Given the description of an element on the screen output the (x, y) to click on. 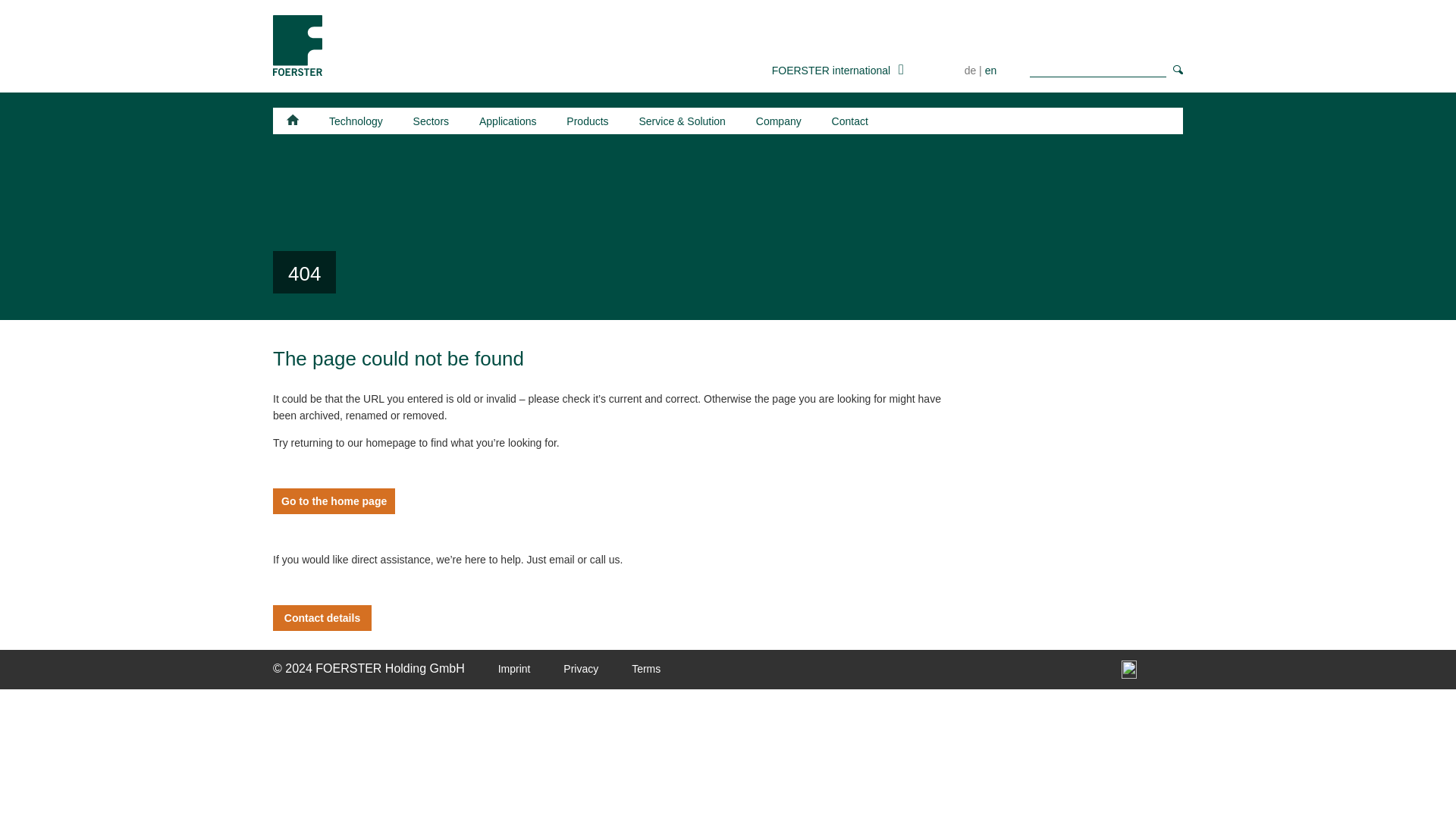
de (969, 70)
Contact (849, 121)
en (991, 70)
